Given the description of an element on the screen output the (x, y) to click on. 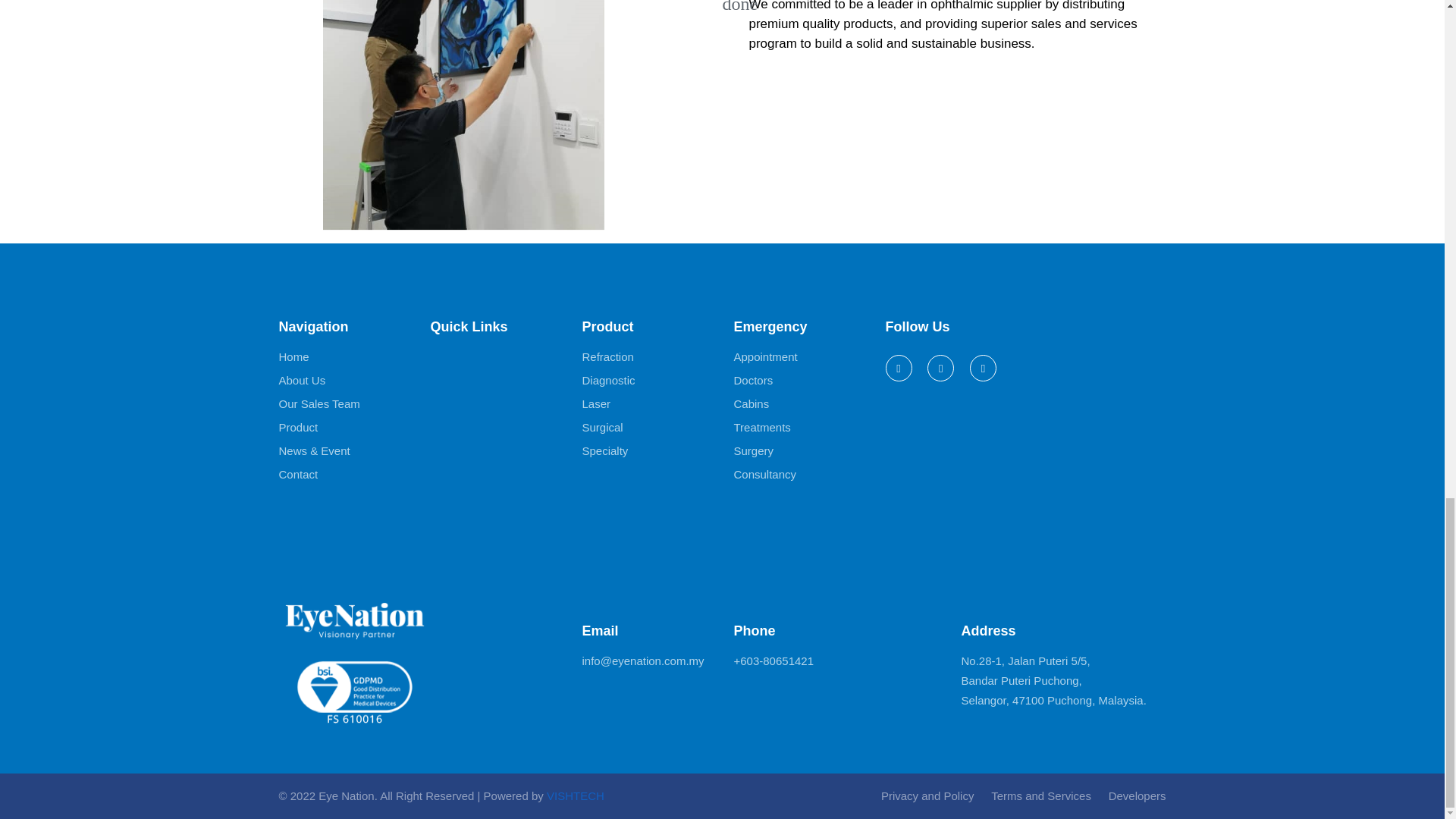
About Us (302, 380)
Contact (298, 474)
Cabins (751, 403)
Surgical (602, 427)
Diagnostic (608, 380)
Diagnostic (608, 380)
Refraction (607, 356)
Doctors (753, 380)
Refraction (607, 356)
Surgical (602, 427)
Home (293, 356)
Product (298, 427)
Our Sales Team (319, 403)
Laser (596, 403)
Laser (596, 403)
